Given the description of an element on the screen output the (x, y) to click on. 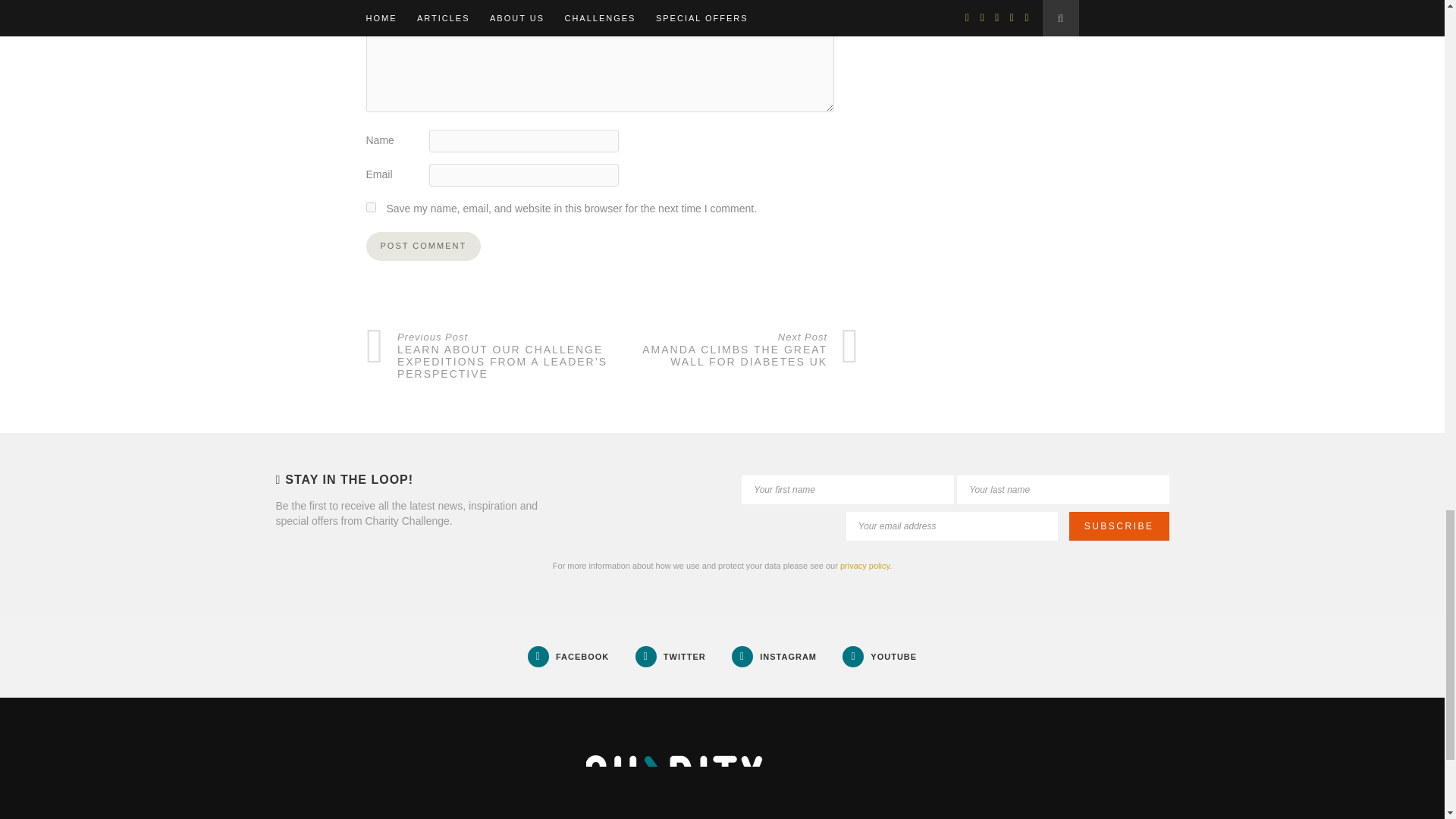
Post Comment (422, 246)
Post Comment (422, 246)
Subscribe (1118, 525)
yes (370, 207)
